Given the description of an element on the screen output the (x, y) to click on. 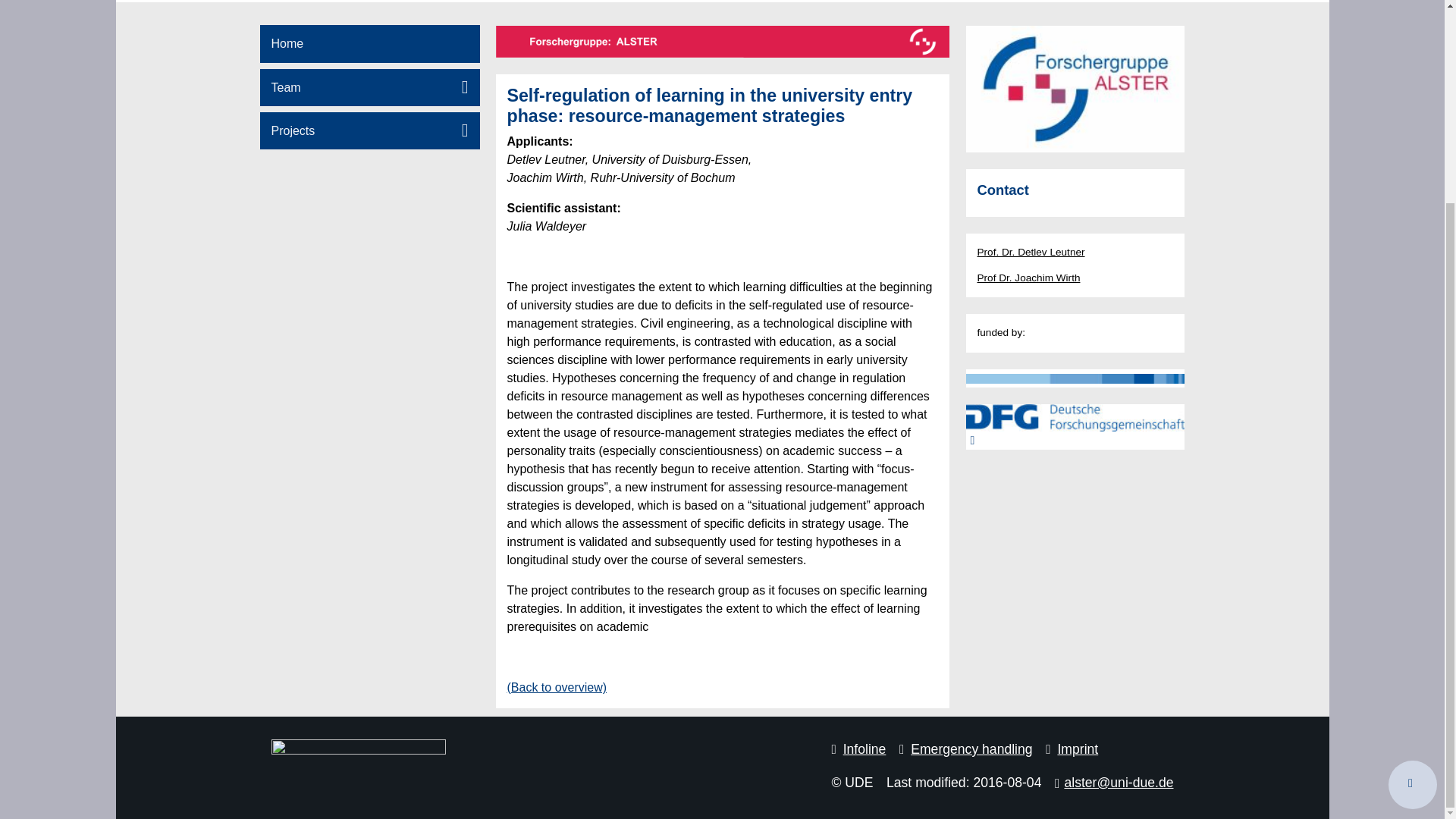
Projects (369, 130)
Infoline (858, 749)
Team (369, 87)
Prof Dr. Joachim Wirth (1028, 277)
Prof. Dr. Detlev Leutner (1030, 251)
Homepage of Research Group ALSTER (369, 43)
Imprint (1071, 749)
Emergency handling (965, 749)
Home (369, 43)
